Given the description of an element on the screen output the (x, y) to click on. 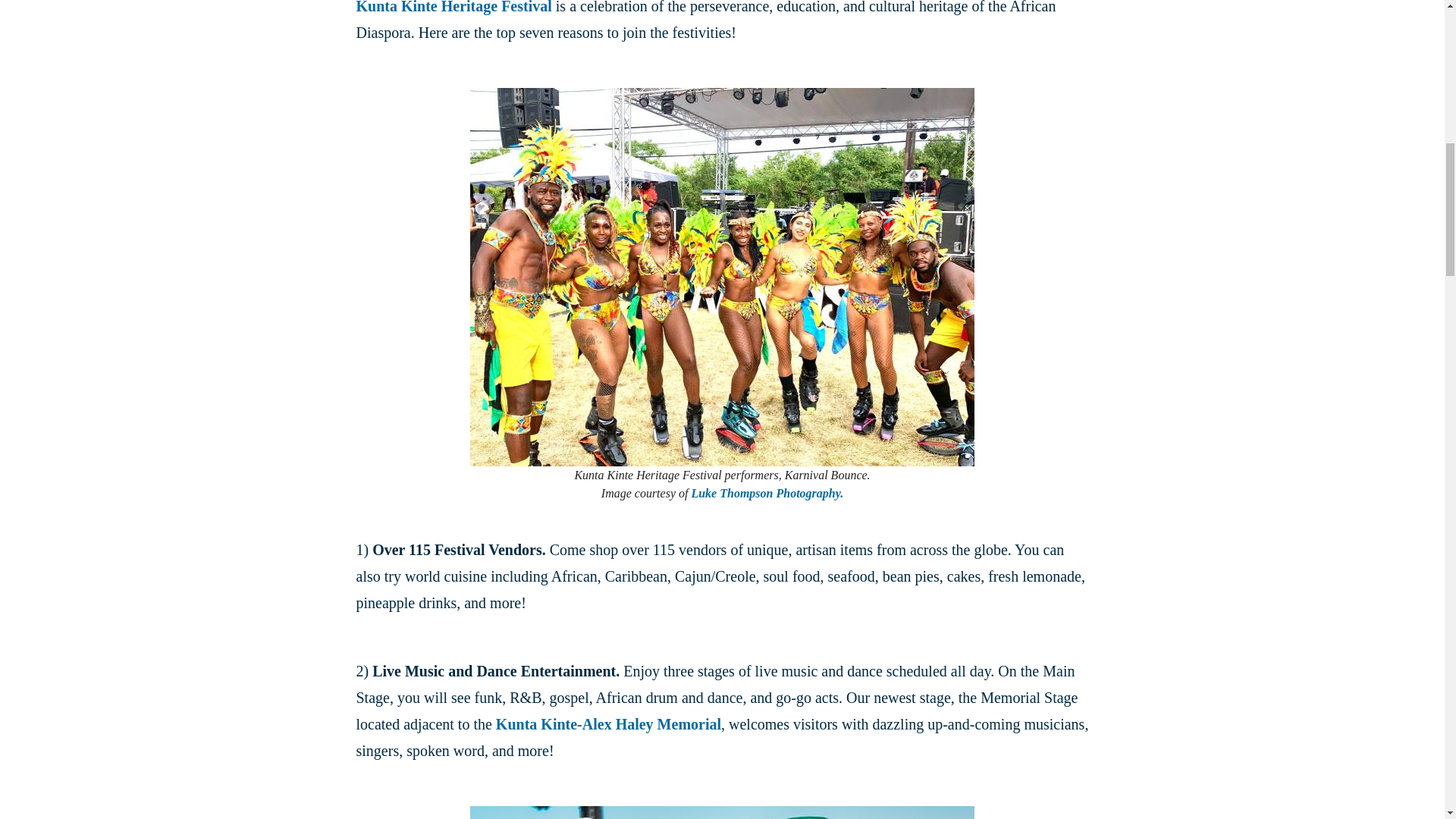
Luke Thompson Photography. (766, 492)
Kunta Kinte Heritage Festival (453, 7)
Kunta Kinte-Alex Haley Memorial (608, 723)
